Given the description of an element on the screen output the (x, y) to click on. 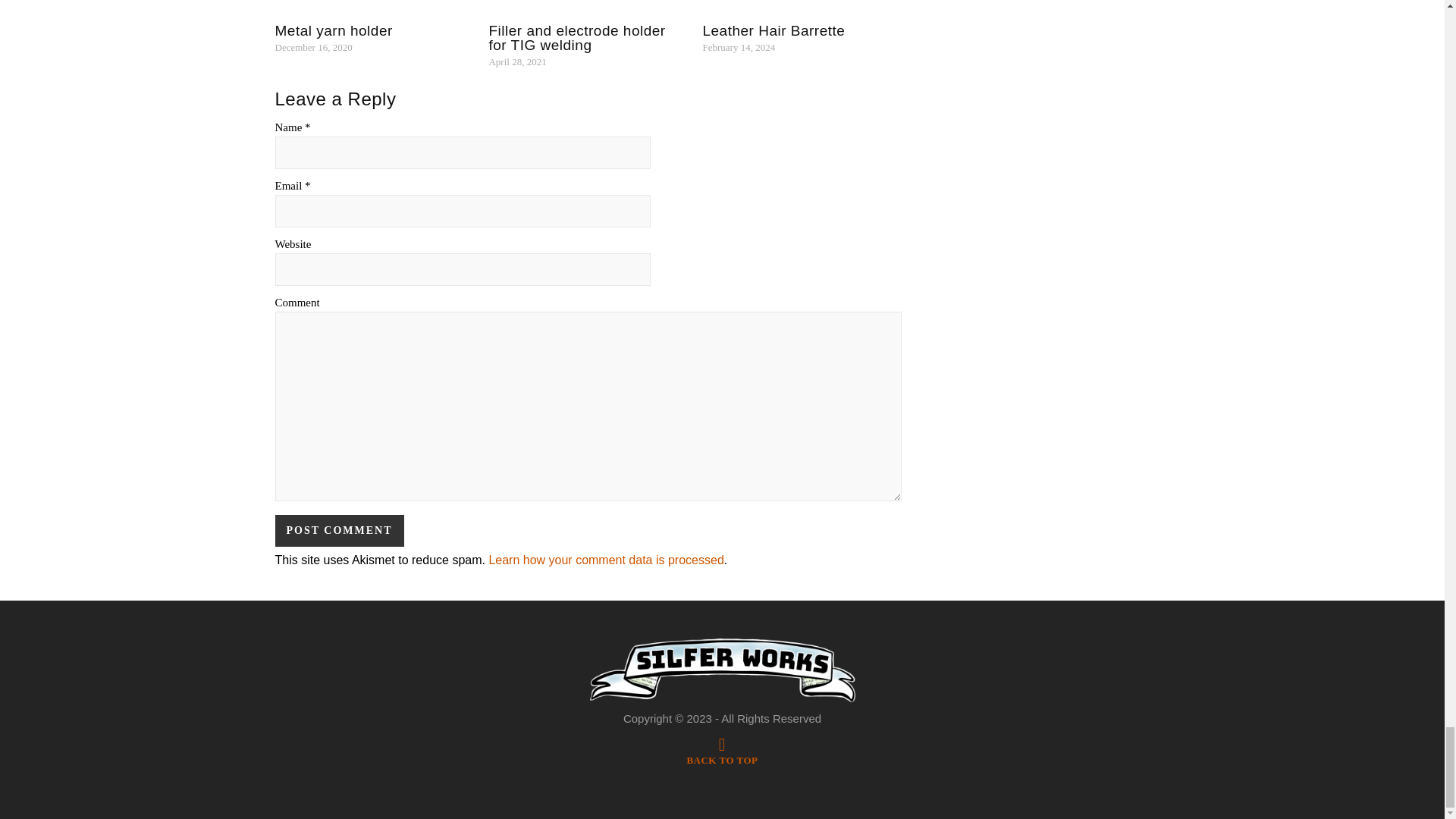
Leather Hair Barrette (772, 30)
Post Comment (339, 531)
Metal yarn holder (333, 30)
Filler and electrode holder for TIG welding (576, 37)
Silfer Works (722, 669)
Learn how your comment data is processed (605, 559)
BACK TO TOP (721, 753)
Post Comment (339, 531)
